Given the description of an element on the screen output the (x, y) to click on. 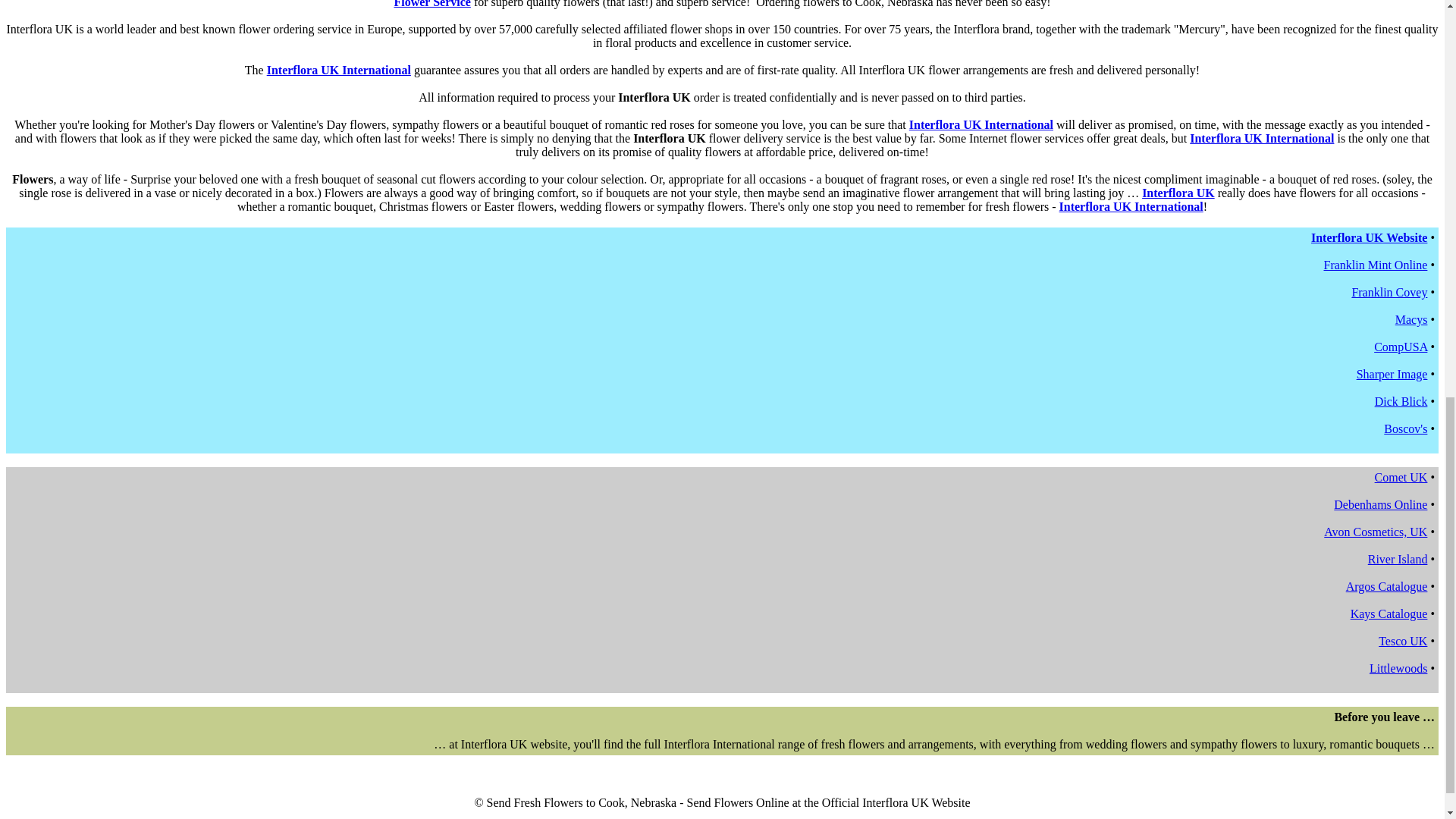
Franklin Mint Online Store (1375, 264)
CompUSA (1400, 346)
Sharper Image (1392, 373)
Interflora UK International (1261, 137)
Franklin Mint Online (1375, 264)
Comet UK (1401, 477)
Franklin Covey (1388, 291)
Interflora UK International (980, 124)
